Given the description of an element on the screen output the (x, y) to click on. 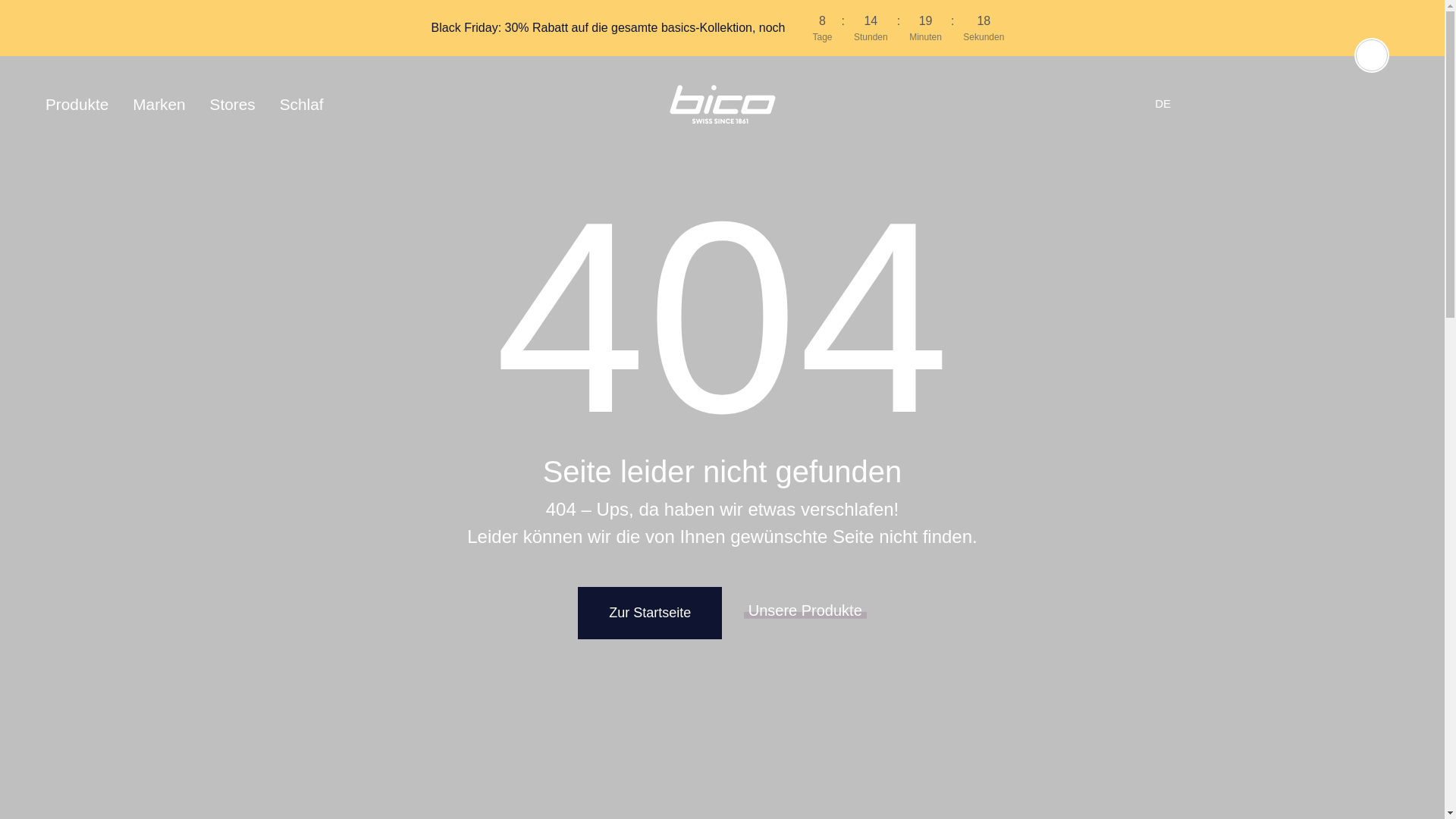
DE Element type: text (1162, 102)
Zur Startseite Element type: text (649, 612)
Marken Element type: text (158, 104)
Unsere Produkte Element type: text (804, 610)
Stores Element type: text (232, 104)
Schlaf Element type: text (301, 104)
Produkte Element type: text (82, 104)
